Given the description of an element on the screen output the (x, y) to click on. 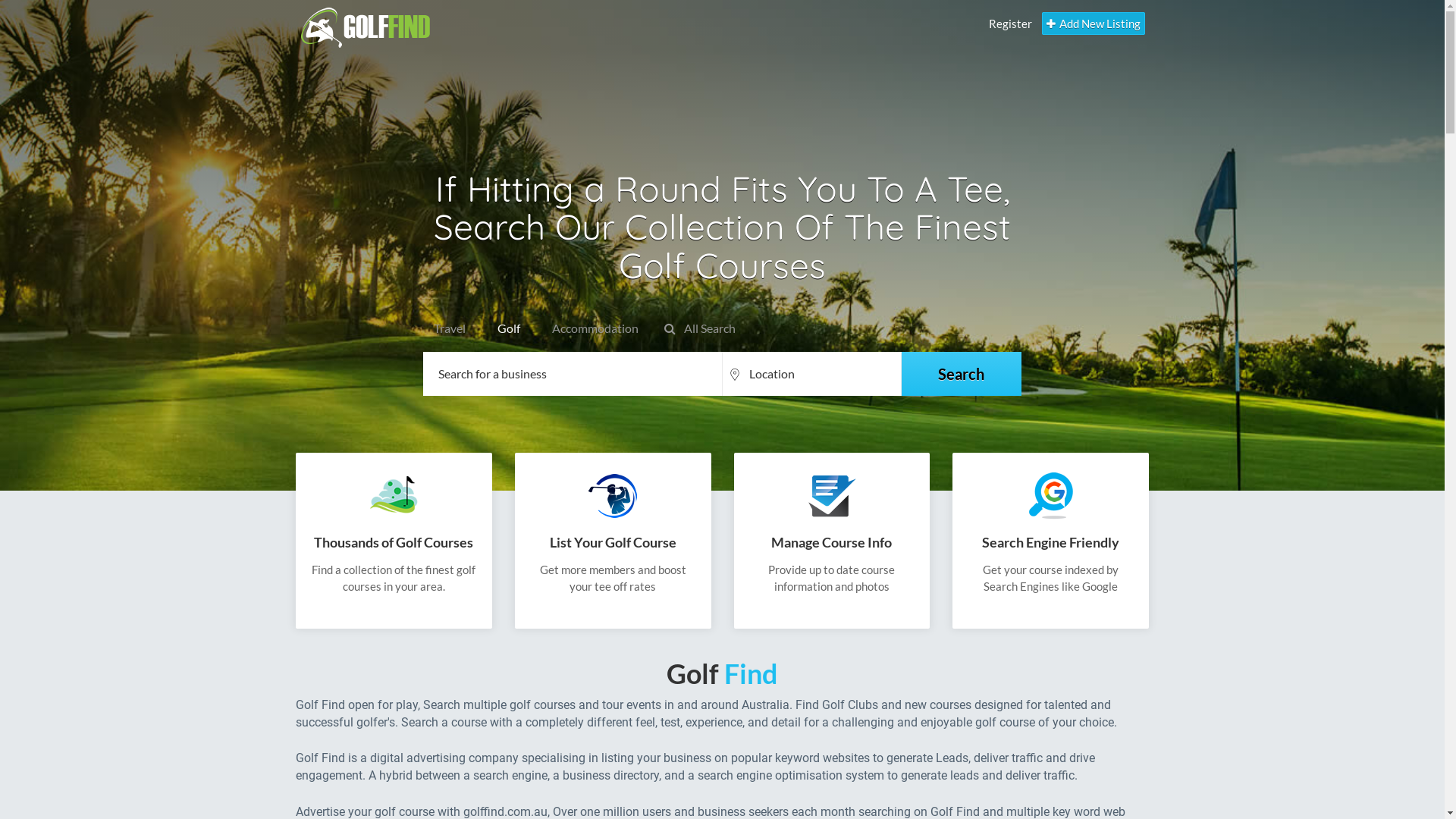
Accommodation Element type: text (591, 328)
Add New Listing Element type: text (1093, 23)
Golf Find Home Page Element type: hover (412, 23)
Travel Element type: text (446, 328)
All Search Element type: text (699, 328)
Register Element type: text (1010, 23)
Search Element type: text (961, 373)
Golf Element type: text (505, 328)
